Given the description of an element on the screen output the (x, y) to click on. 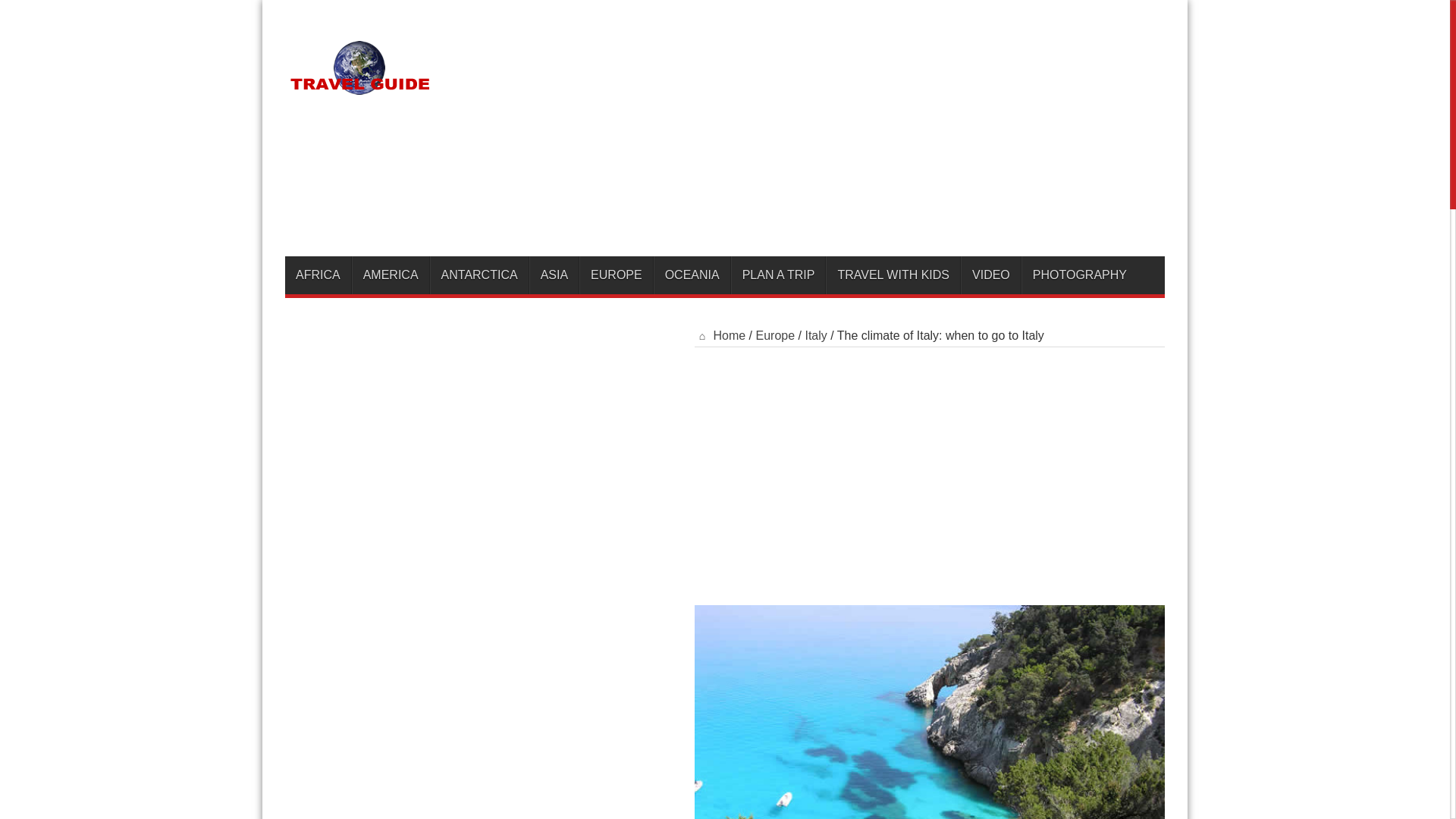
Travel Guide (360, 94)
Advertisement (888, 131)
Advertisement (871, 468)
VIDEO (990, 275)
PHOTOGRAPHY (1079, 275)
